Given the description of an element on the screen output the (x, y) to click on. 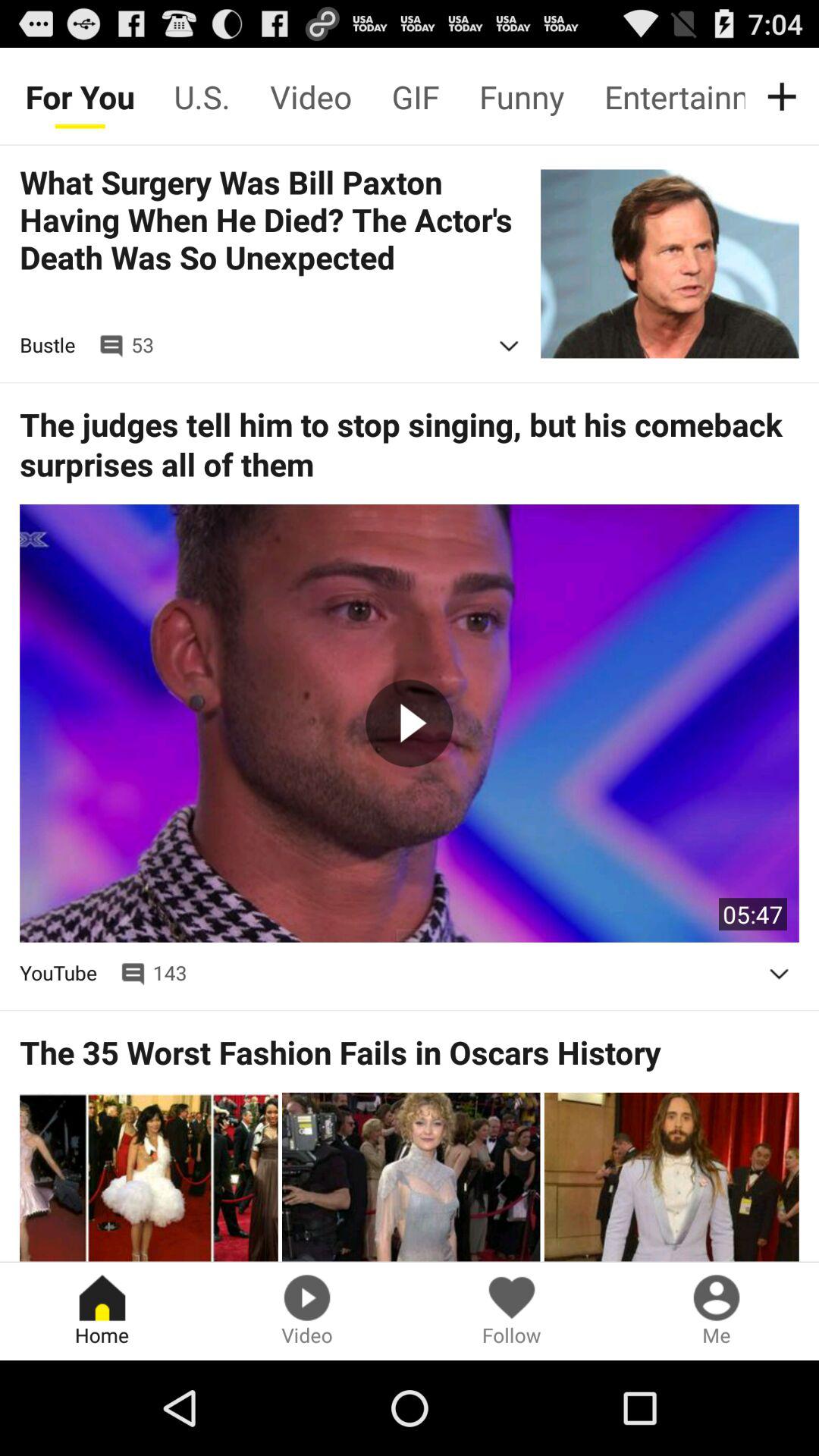
click the icon below the what surgery was (508, 346)
